Given the description of an element on the screen output the (x, y) to click on. 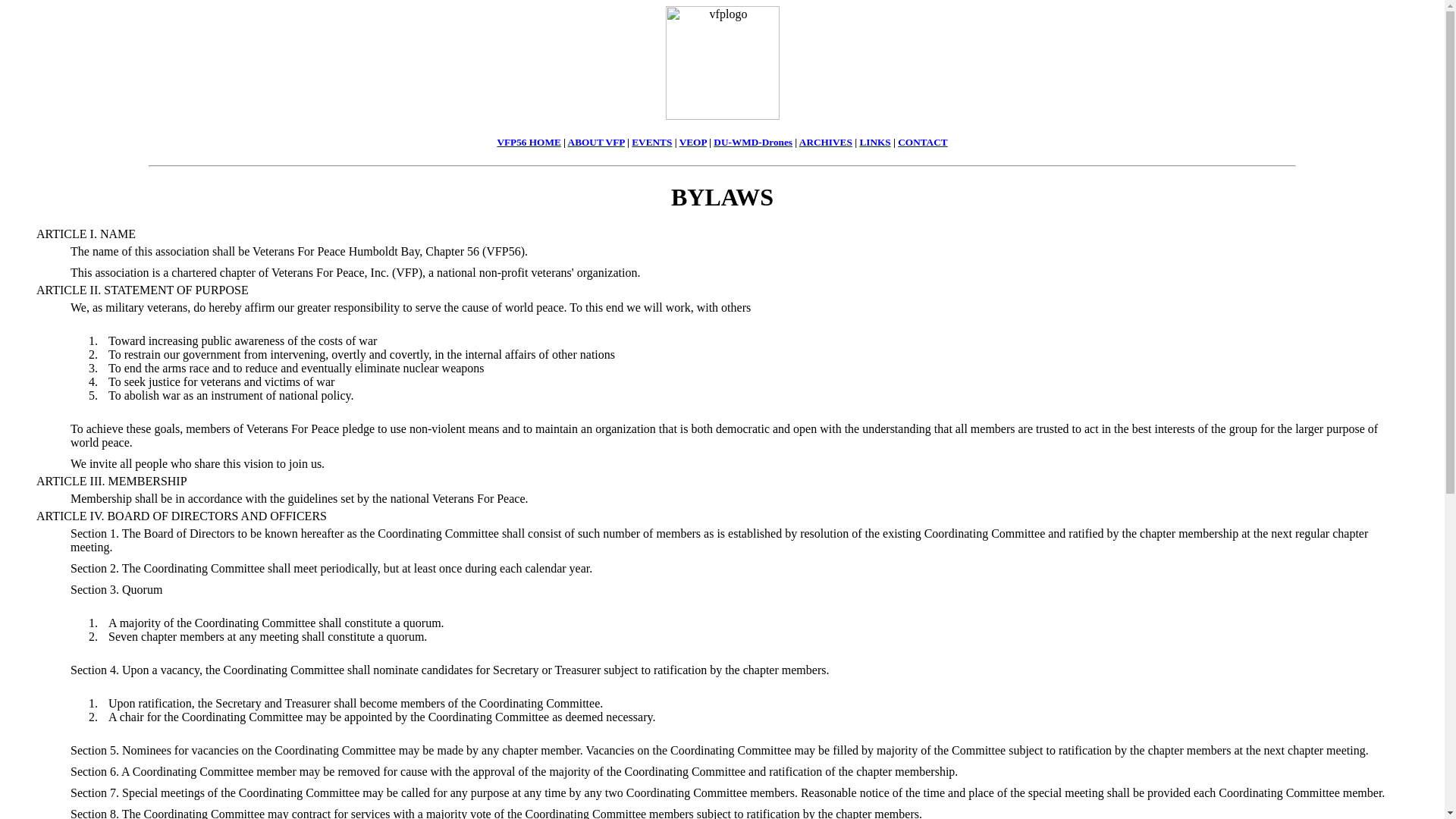
ABOUT VFP (595, 142)
VFP56 HOME (528, 142)
ARCHIVES (825, 142)
DU-WMD-Drones (752, 142)
EVENTS (651, 142)
VEOP (692, 142)
LINKS (874, 142)
CONTACT (922, 142)
